Given the description of an element on the screen output the (x, y) to click on. 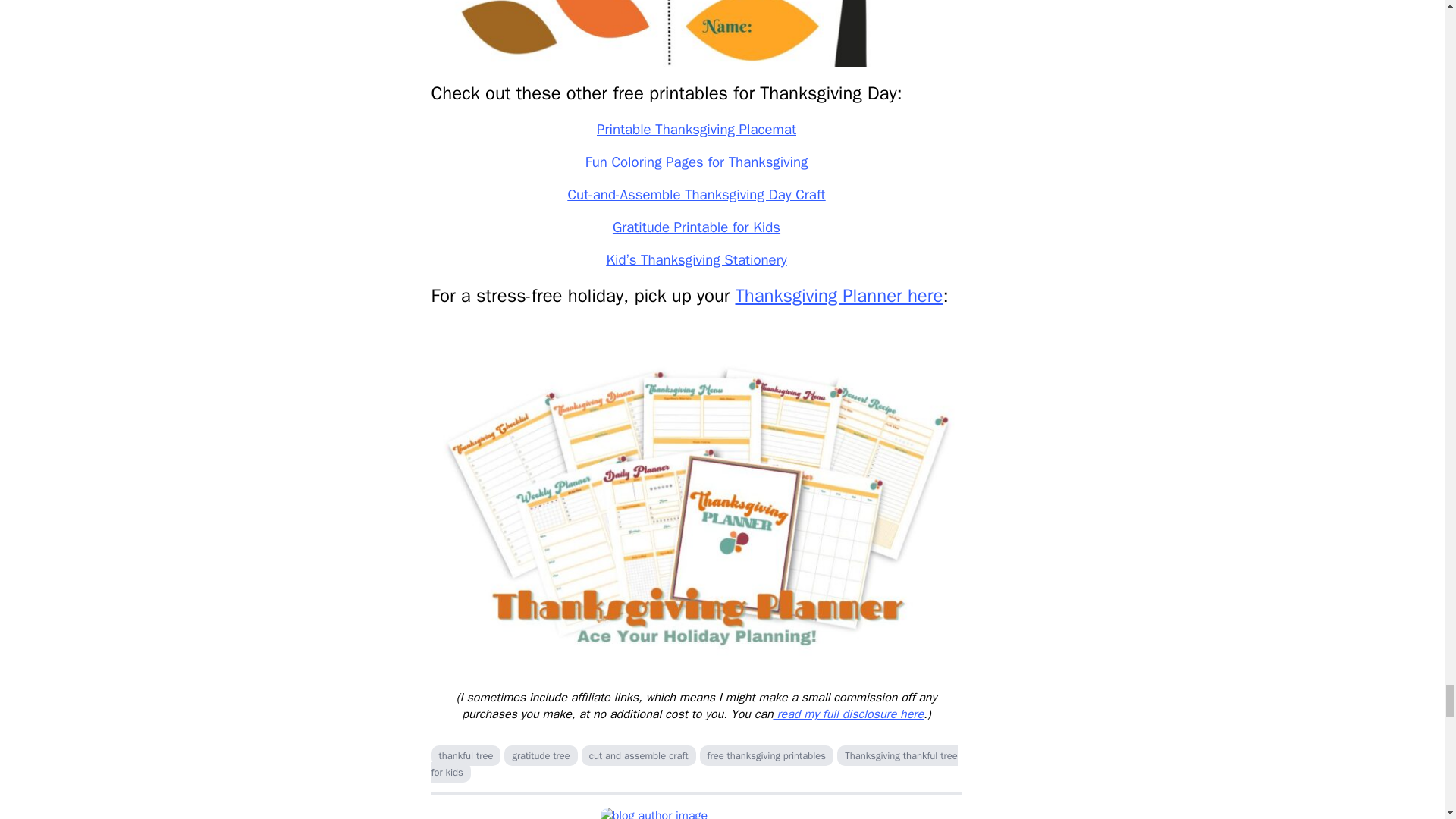
thankful tree printable cut and assemble (695, 33)
